Given the description of an element on the screen output the (x, y) to click on. 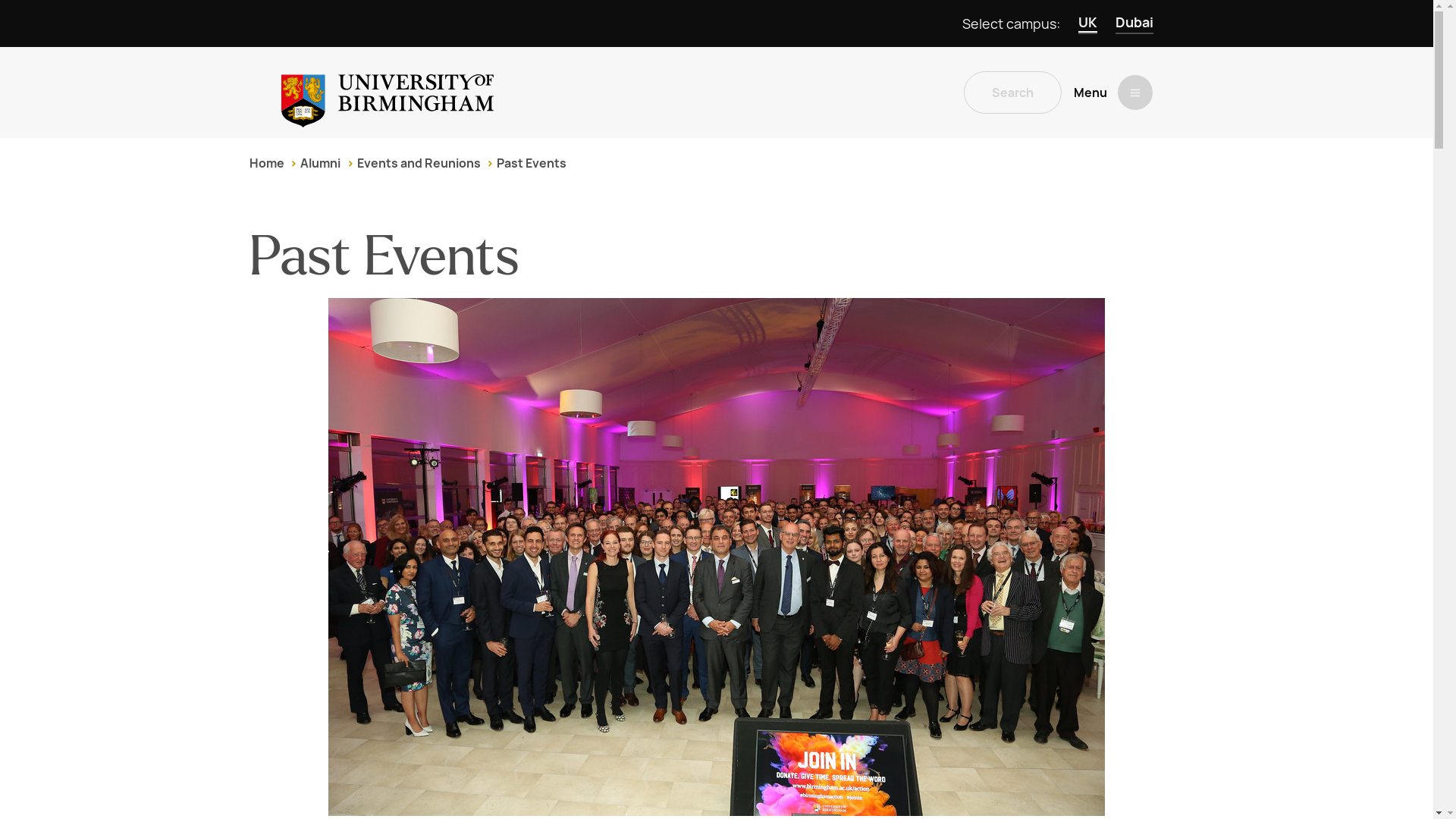
UK (1087, 23)
Alumni (319, 162)
Home (265, 162)
Search (1012, 92)
Dubai (1134, 23)
Past Events (531, 162)
Events and Reunions (418, 162)
